Given the description of an element on the screen output the (x, y) to click on. 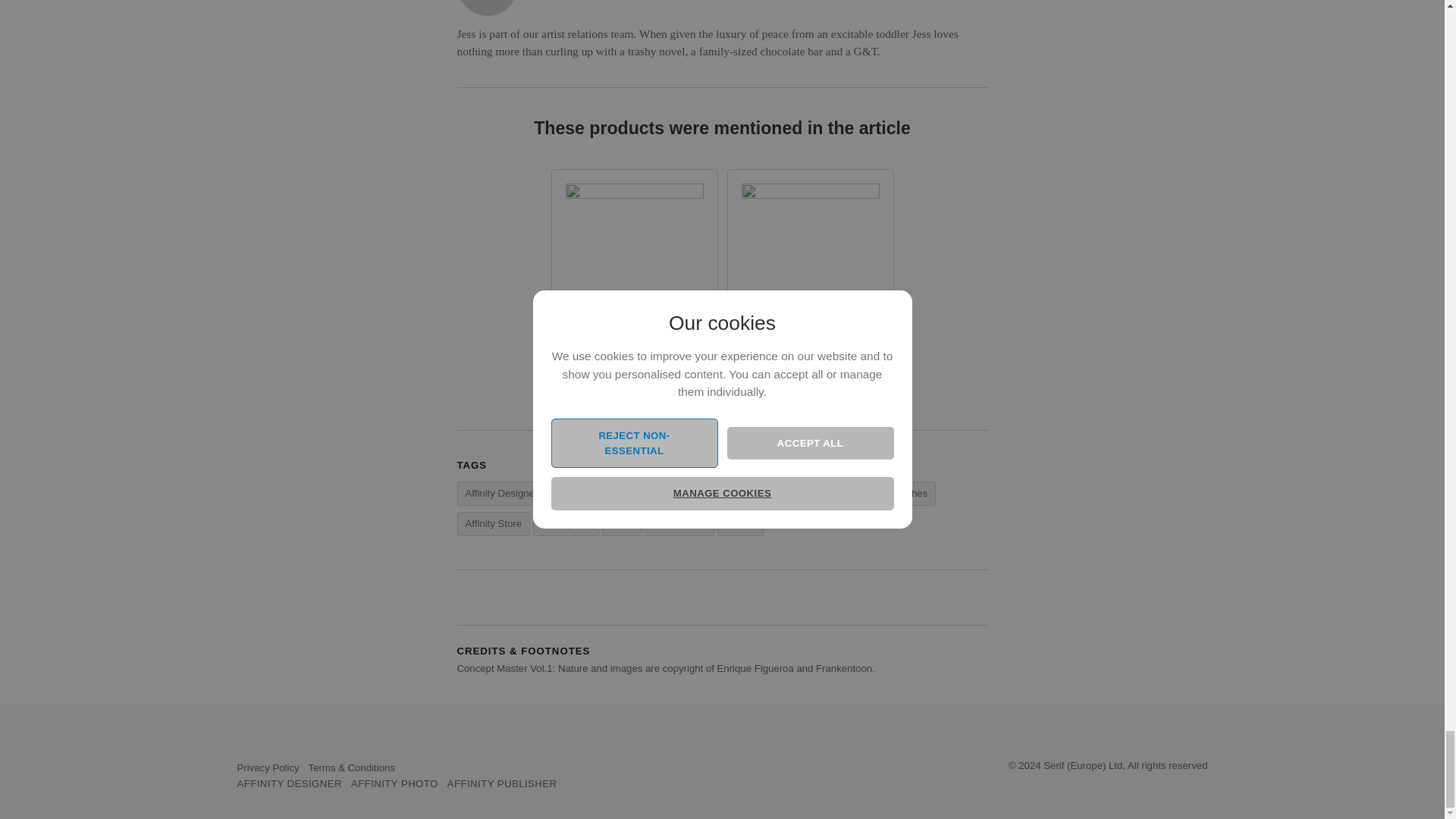
Frankentoon (663, 493)
Follow us on Instagram (283, 740)
Affinity Spotlight feeds (362, 740)
Follow us on Twitter (243, 740)
brushes (909, 493)
Nature (740, 523)
Follow us on Tiktok (303, 740)
raster brushes (839, 493)
Affinity Designer (501, 493)
Enrique Figueroa (749, 493)
